Given the description of an element on the screen output the (x, y) to click on. 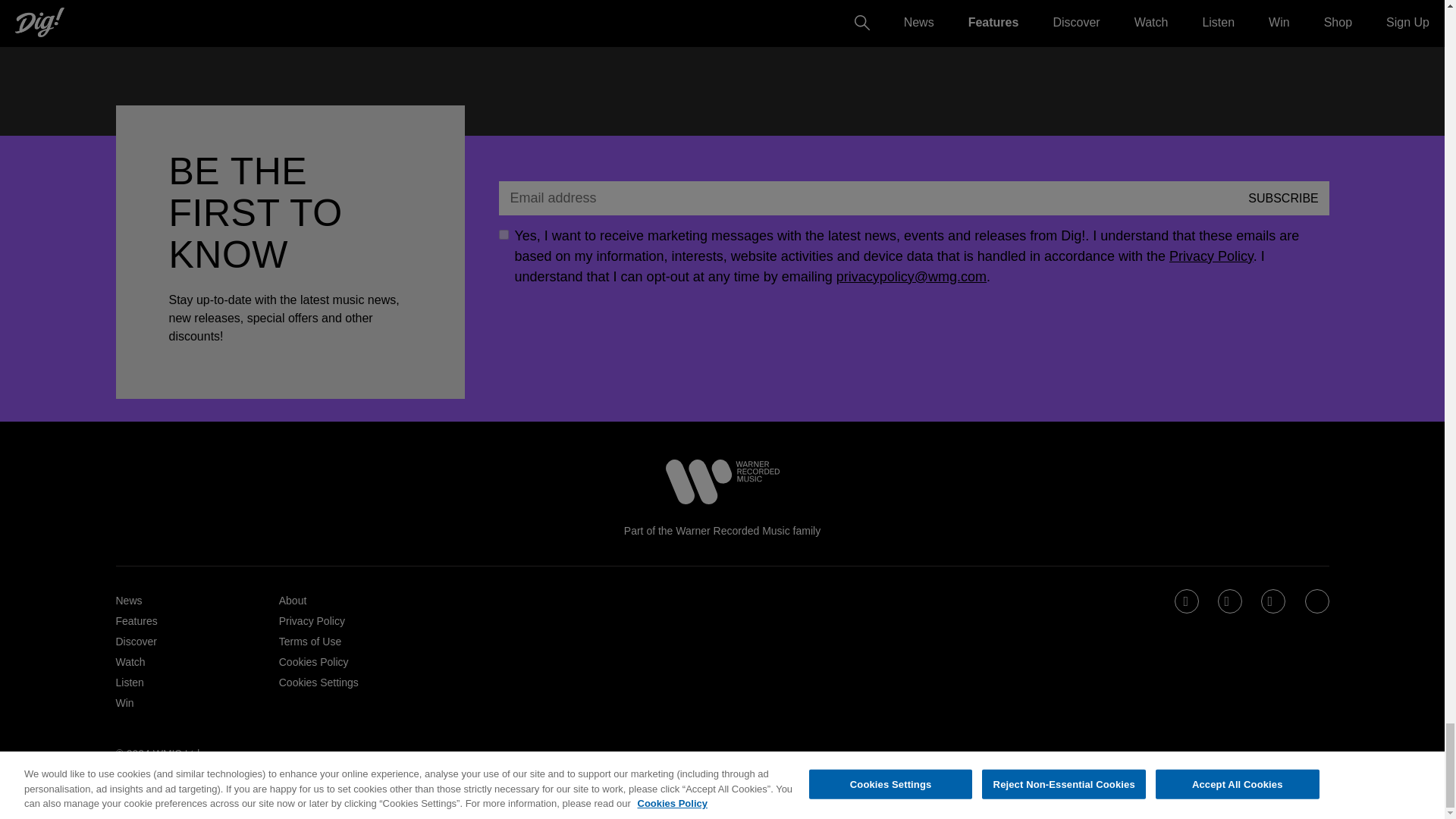
Twitter (1230, 601)
YouTube (1318, 601)
Instagram (1273, 601)
Facebook (1186, 601)
Subscribe (1282, 197)
agree (503, 234)
